Given the description of an element on the screen output the (x, y) to click on. 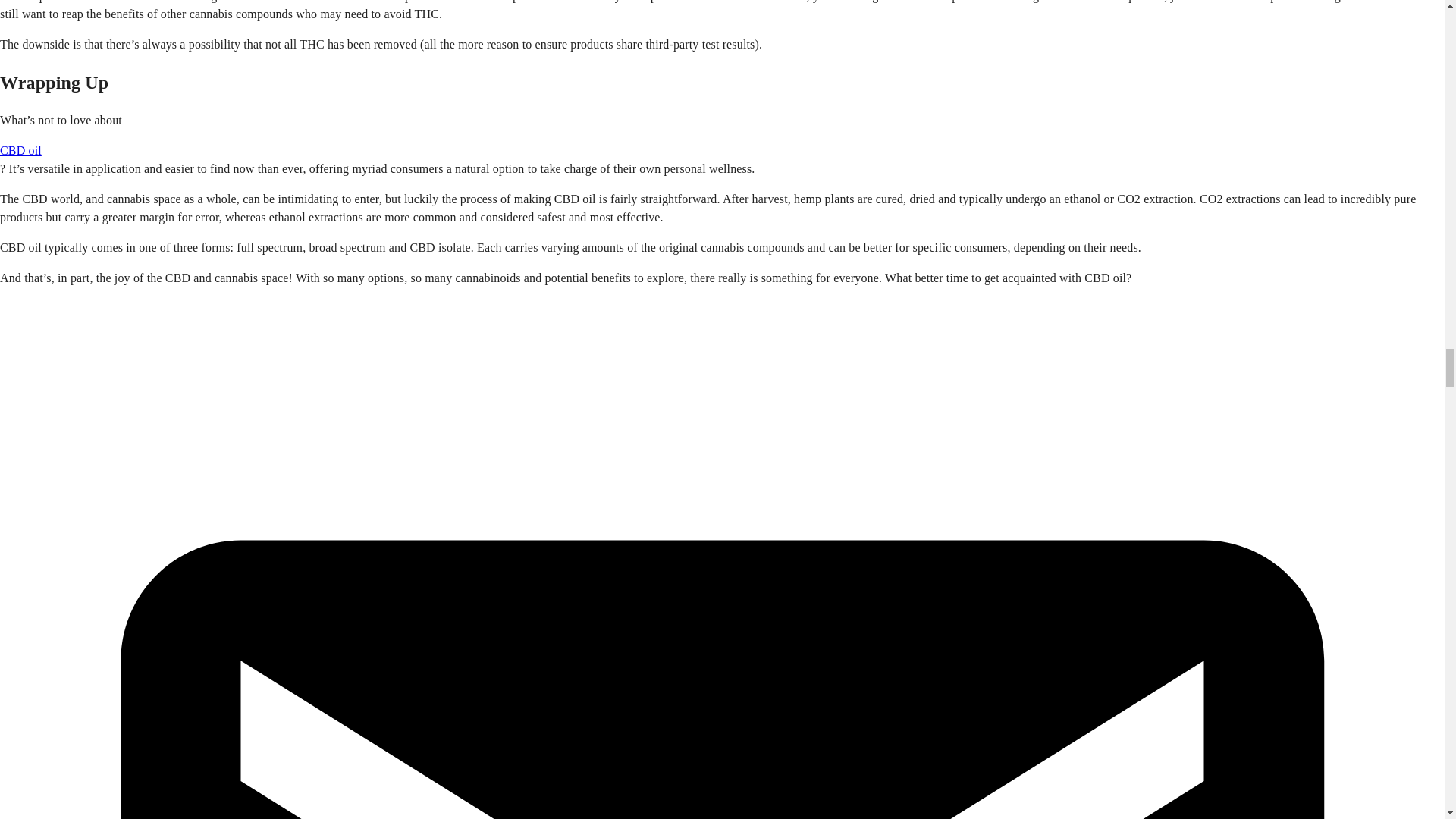
CBD oil (21, 150)
